Given the description of an element on the screen output the (x, y) to click on. 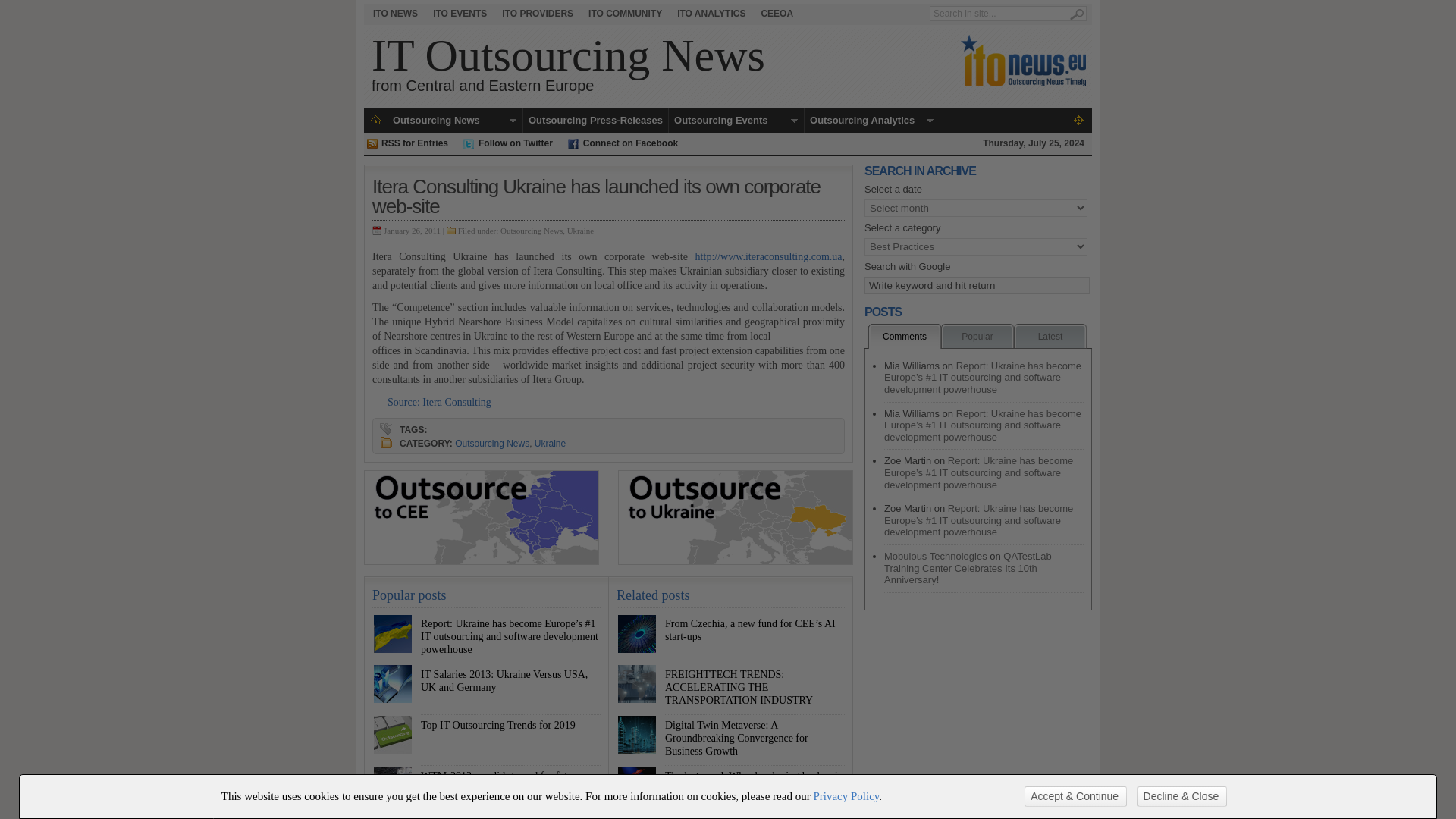
Latest outsourcing news from CEE (395, 14)
Outsourcing Press-Releases (595, 120)
View all posts in Ukraine (568, 62)
ITO PROVIDERS (580, 230)
ITO ANALYTICS (537, 14)
ITO EVENTS (710, 14)
RSS for Entries (460, 14)
Follow on Twitter (413, 142)
Ukraine (515, 142)
CEEOA (580, 230)
Latest IT outsourcing market reports and white papers (776, 14)
Connect on Facebook (710, 14)
ITO COMMUNITY (630, 142)
Write keyword and hit return (624, 14)
